Given the description of an element on the screen output the (x, y) to click on. 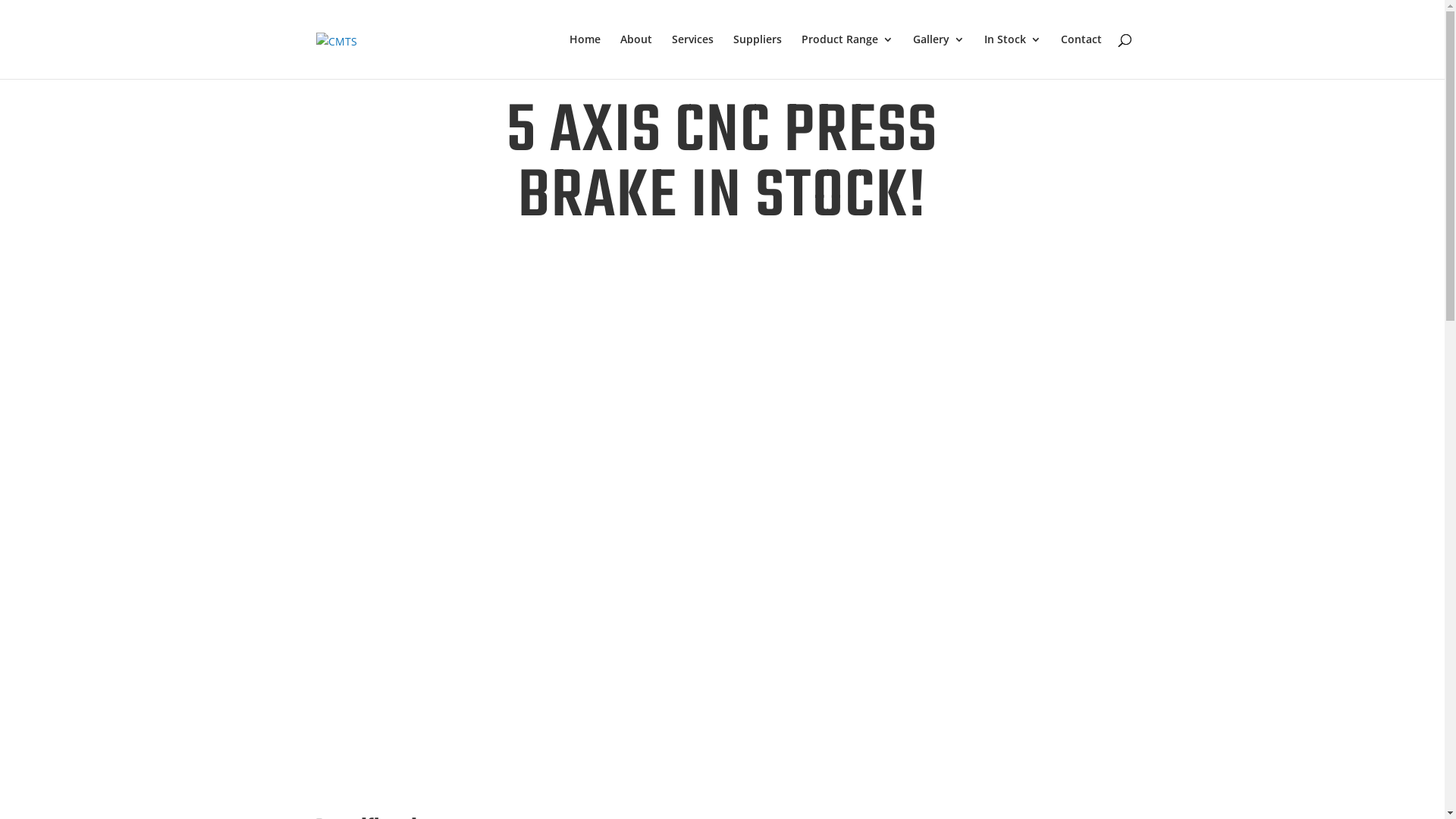
Product Range Element type: text (846, 56)
Contact Element type: text (1080, 56)
In Stock Element type: text (1012, 56)
Services Element type: text (692, 56)
Suppliers Element type: text (756, 56)
Gallery Element type: text (938, 56)
About Element type: text (636, 56)
Home Element type: text (583, 56)
